Given the description of an element on the screen output the (x, y) to click on. 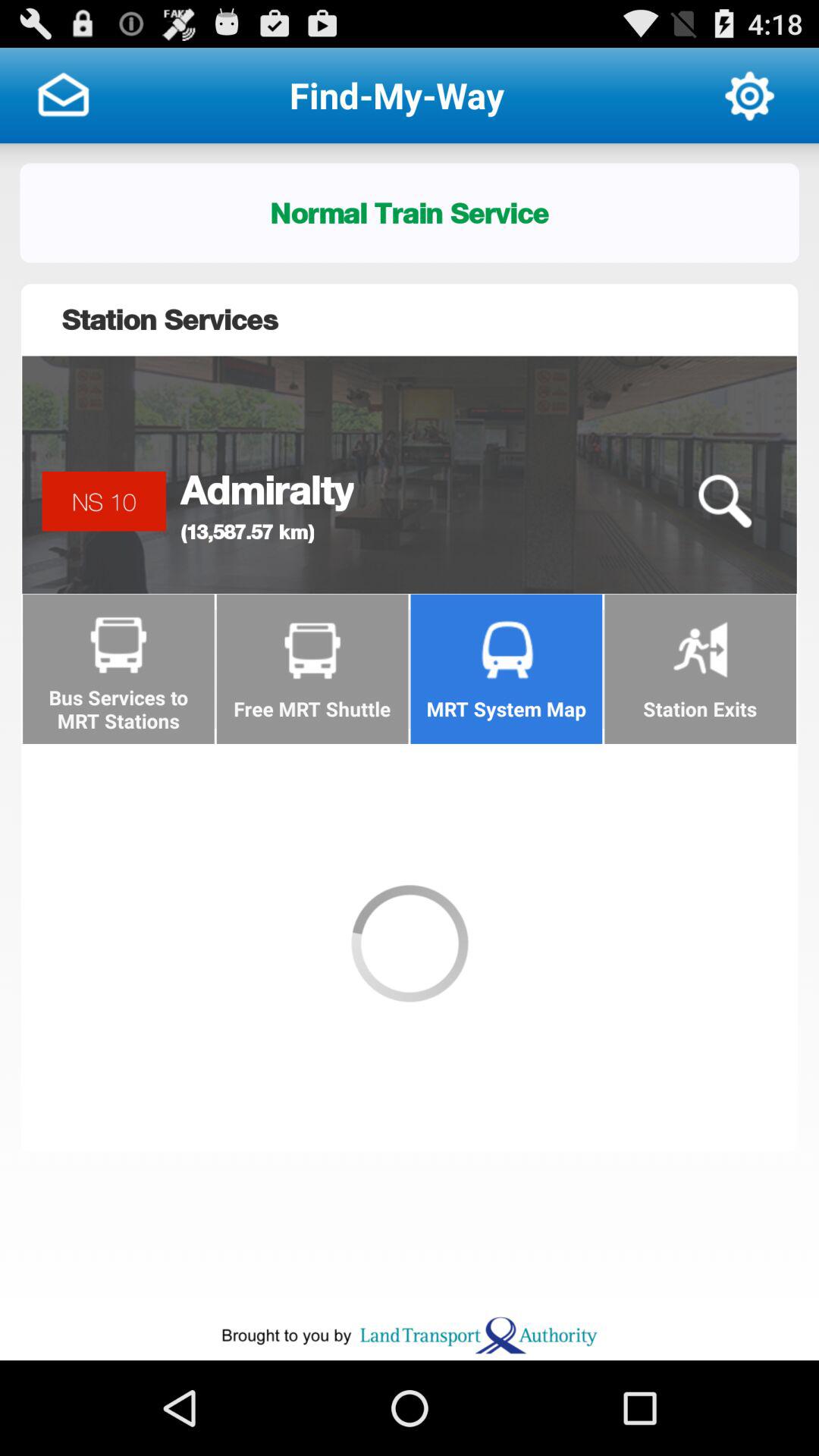
open app to the left of find-my-way (62, 95)
